Given the description of an element on the screen output the (x, y) to click on. 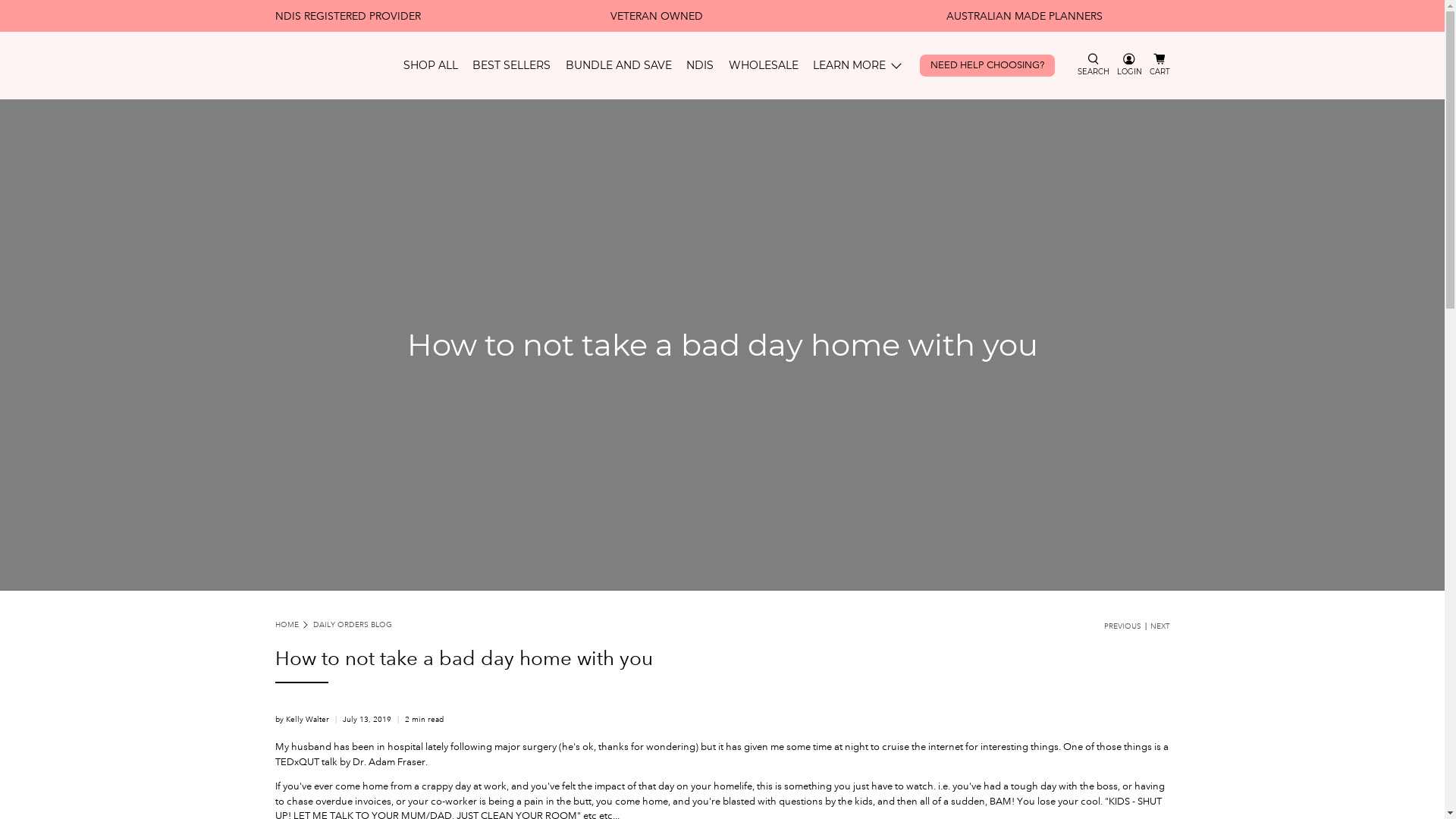
NDIS Element type: text (699, 65)
WHOLESALE Element type: text (763, 65)
Daily Orders Element type: hover (329, 65)
NEXT Element type: text (1159, 626)
SEARCH Element type: text (1093, 65)
BEST SELLERS Element type: text (511, 65)
by Kelly Walter Element type: text (301, 719)
DAILY ORDERS BLOG Element type: text (352, 624)
BUNDLE AND SAVE Element type: text (618, 65)
CART Element type: text (1159, 65)
LEARN MORE Element type: text (858, 65)
LOGIN Element type: text (1129, 65)
SHOP ALL Element type: text (430, 65)
NEED HELP CHOOSING? Element type: text (987, 65)
HOME Element type: text (286, 624)
PREVIOUS Element type: text (1122, 626)
